Given the description of an element on the screen output the (x, y) to click on. 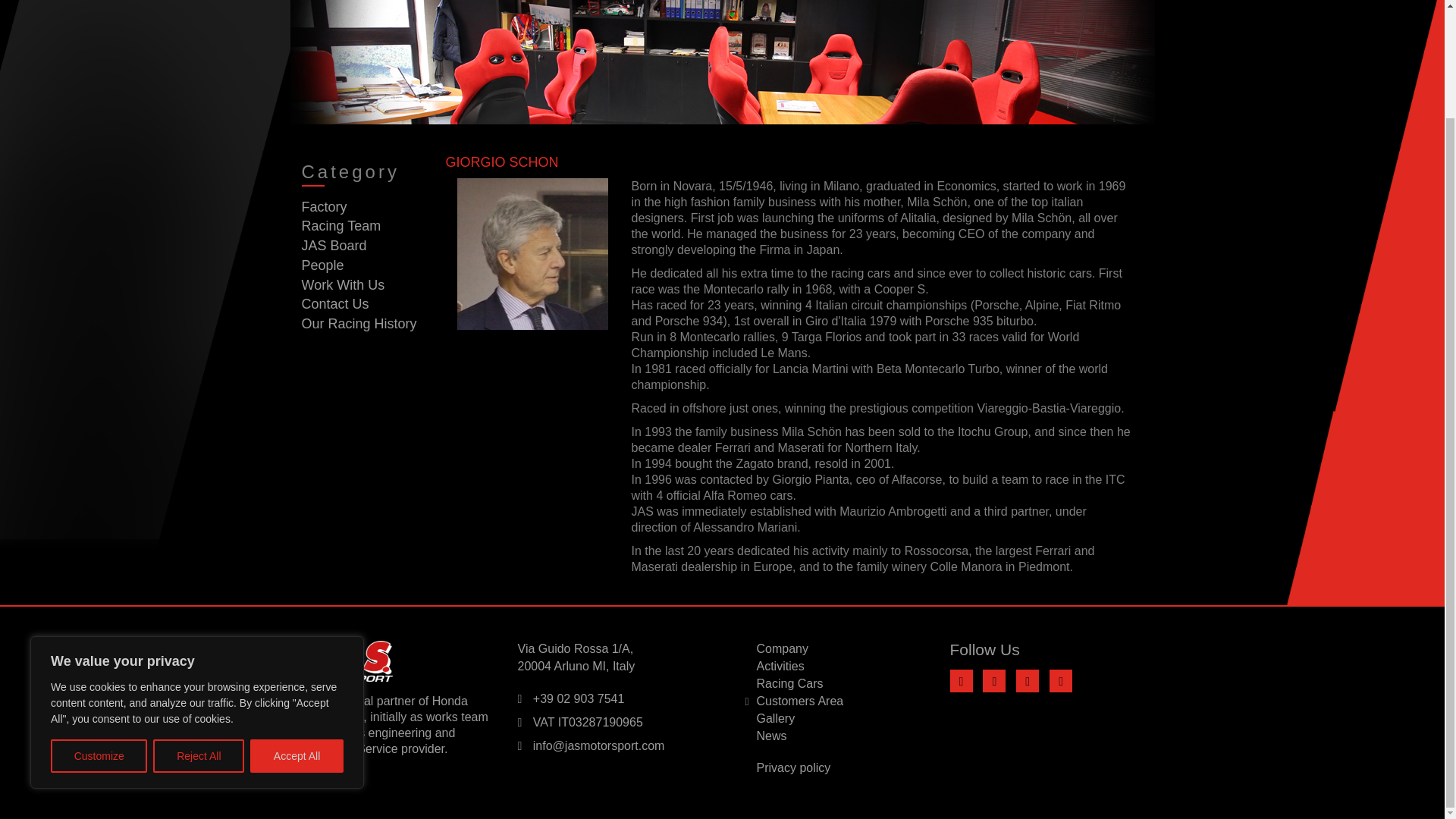
Reject All (198, 628)
Customize (98, 628)
Accept All (296, 628)
